Given the description of an element on the screen output the (x, y) to click on. 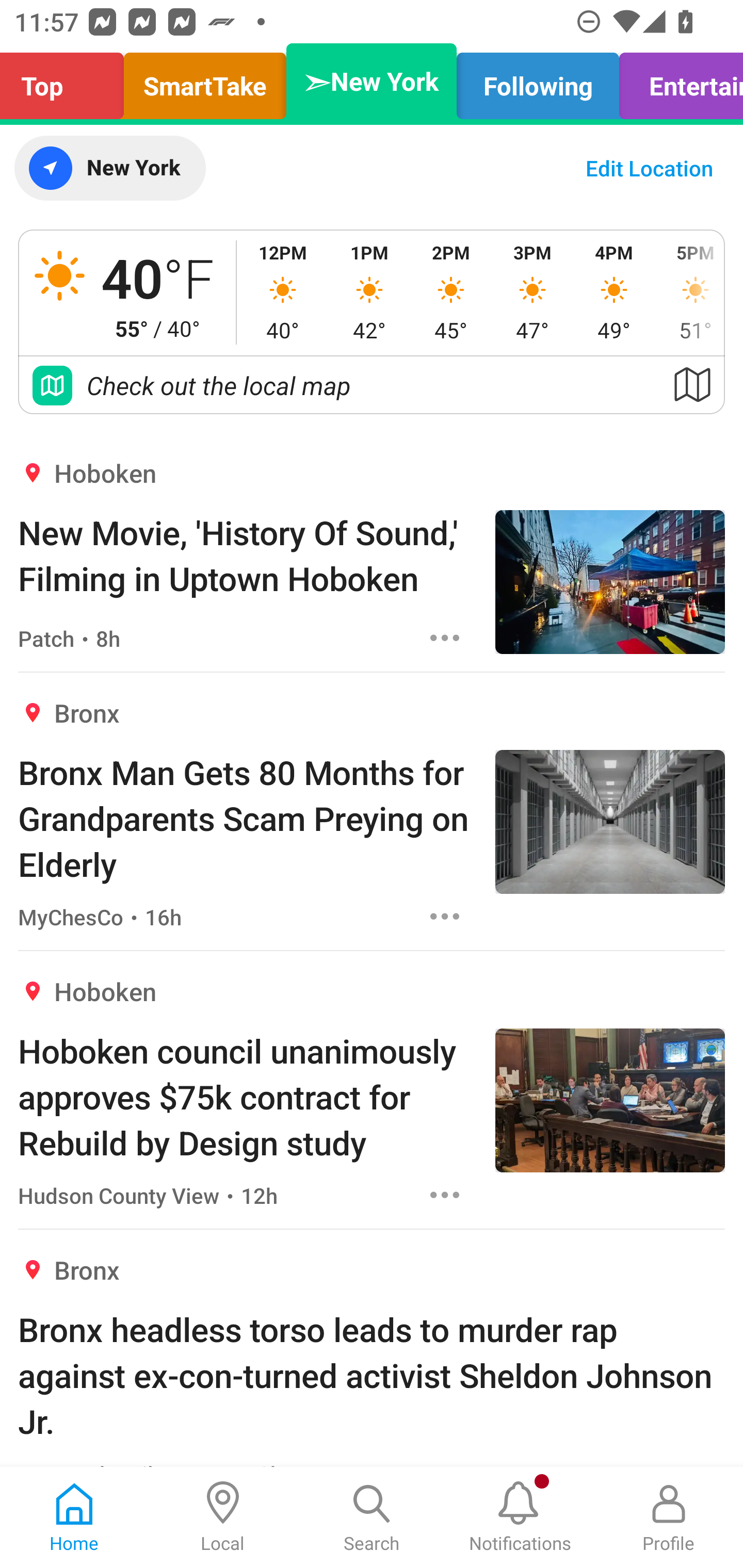
Top (67, 81)
SmartTake (204, 81)
➣New York (371, 81)
Following (537, 81)
New York (109, 168)
Edit Location (648, 168)
12PM 40° (282, 291)
1PM 42° (369, 291)
2PM 45° (450, 291)
3PM 47° (532, 291)
4PM 49° (613, 291)
5PM 51° (689, 291)
Check out the local map (371, 384)
Options (444, 638)
Options (444, 916)
Options (444, 1194)
Local (222, 1517)
Search (371, 1517)
Notifications, New notification Notifications (519, 1517)
Profile (668, 1517)
